Given the description of an element on the screen output the (x, y) to click on. 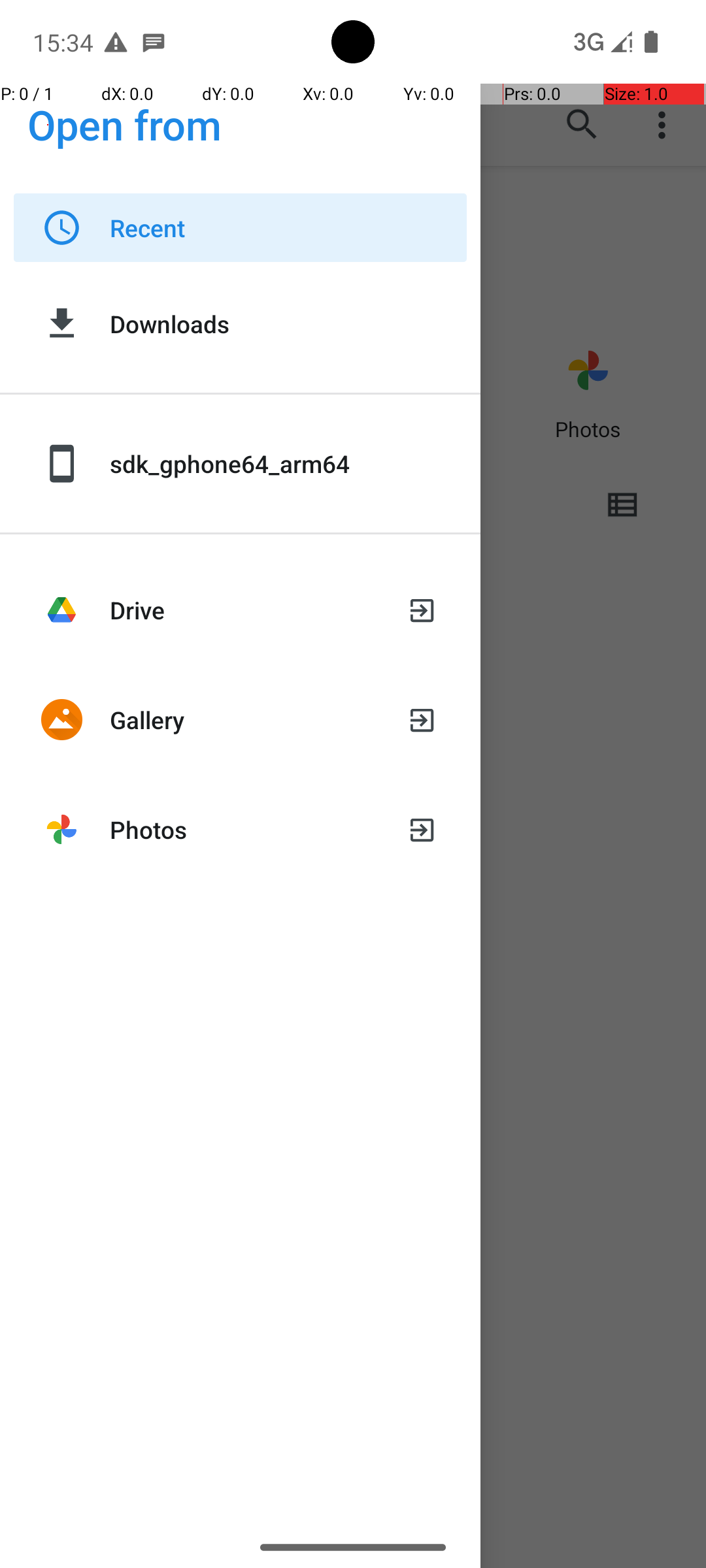
Open from Element type: android.widget.TextView (124, 124)
